Given the description of an element on the screen output the (x, y) to click on. 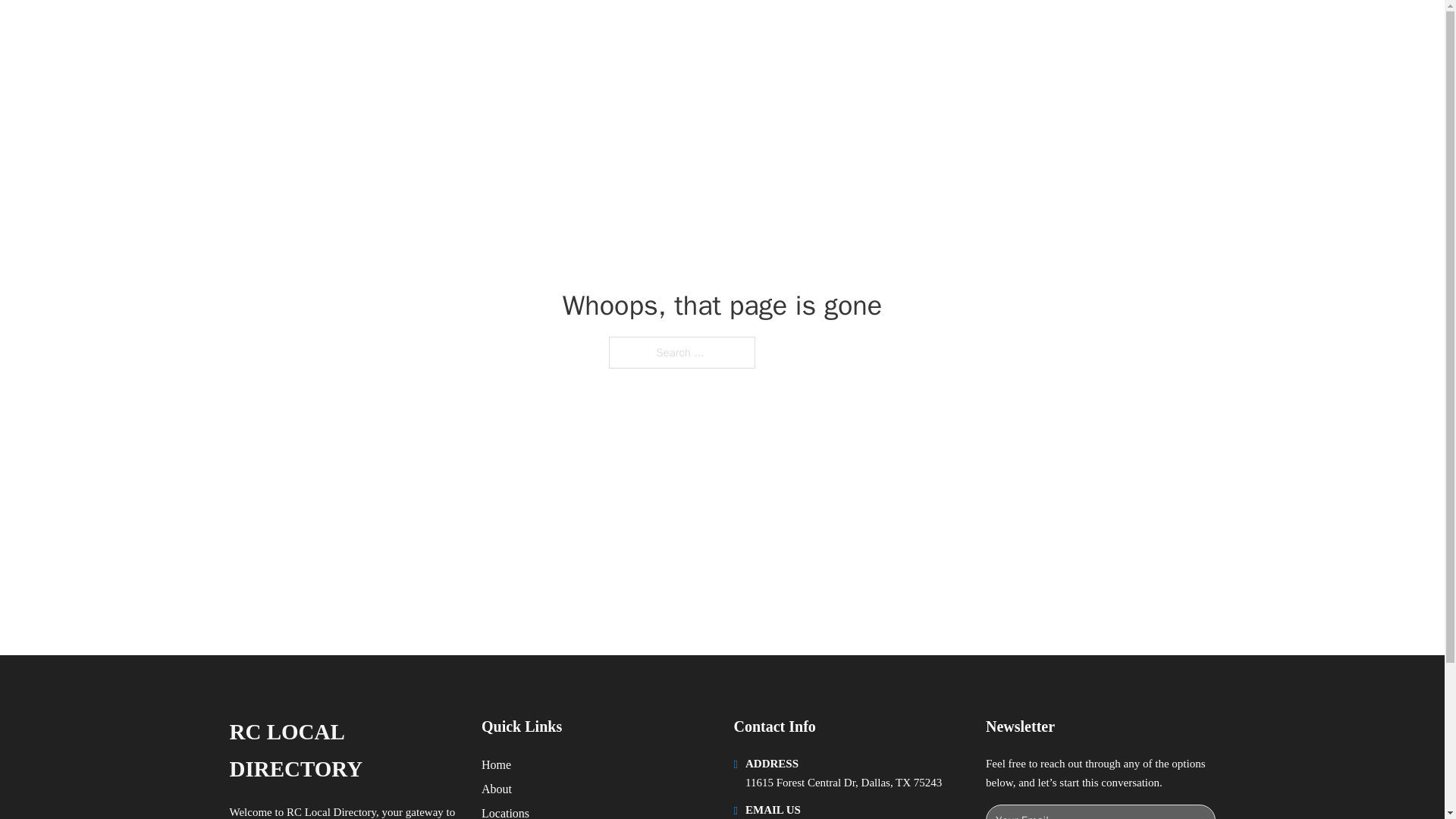
Locations (505, 811)
Home (496, 764)
About (496, 788)
RC LOCAL DIRECTORY (343, 750)
LOCATIONS (990, 29)
RC LOCAL DIRECTORY (419, 28)
HOME (919, 29)
